Given the description of an element on the screen output the (x, y) to click on. 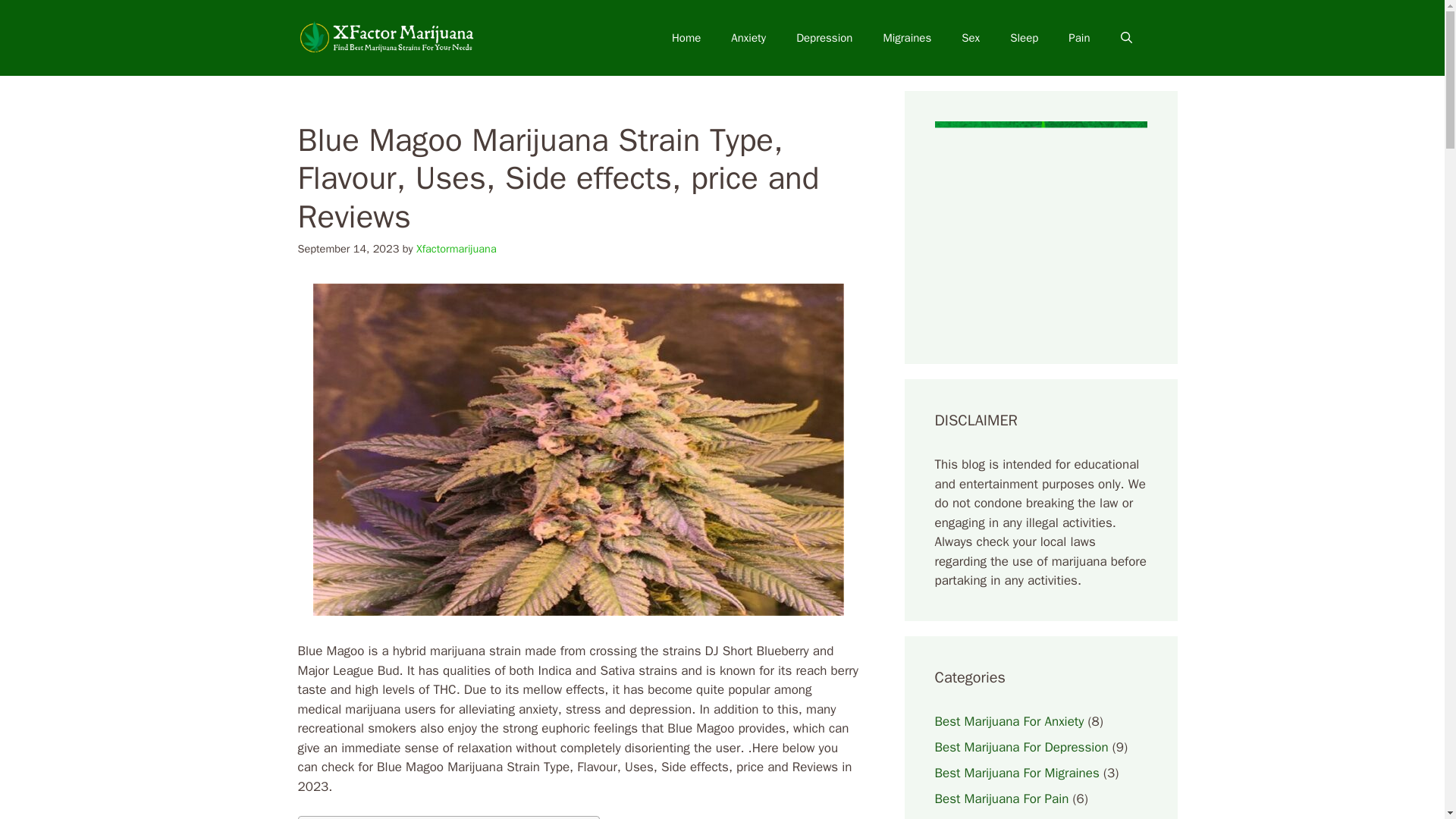
Depression (823, 37)
Home (686, 37)
Best Marijuana For Anxiety (1008, 720)
Sex (970, 37)
Sleep (1023, 37)
Anxiety (748, 37)
Xfactormarijuana (456, 248)
Pain (1078, 37)
Best Marijuana For Pain (1001, 797)
Best Marijuana For Depression (1021, 746)
